Given the description of an element on the screen output the (x, y) to click on. 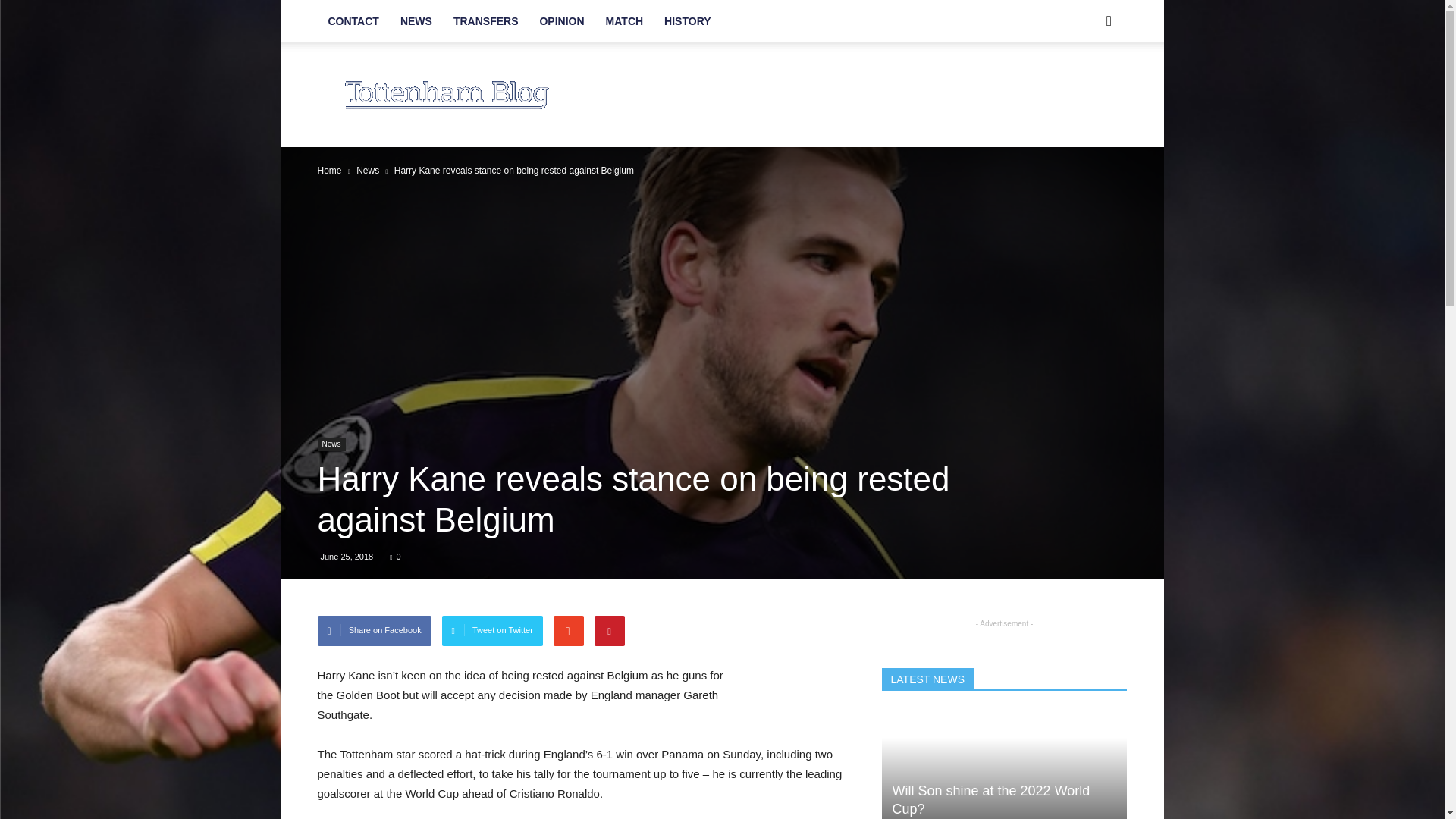
Will Son shine at the 2022 World Cup? (990, 799)
News (331, 444)
TRANSFERS (485, 21)
HISTORY (686, 21)
View all posts in News (367, 170)
Share on Facebook (373, 630)
Tweet on Twitter (492, 630)
MATCH (624, 21)
NEWS (416, 21)
Home (328, 170)
